Given the description of an element on the screen output the (x, y) to click on. 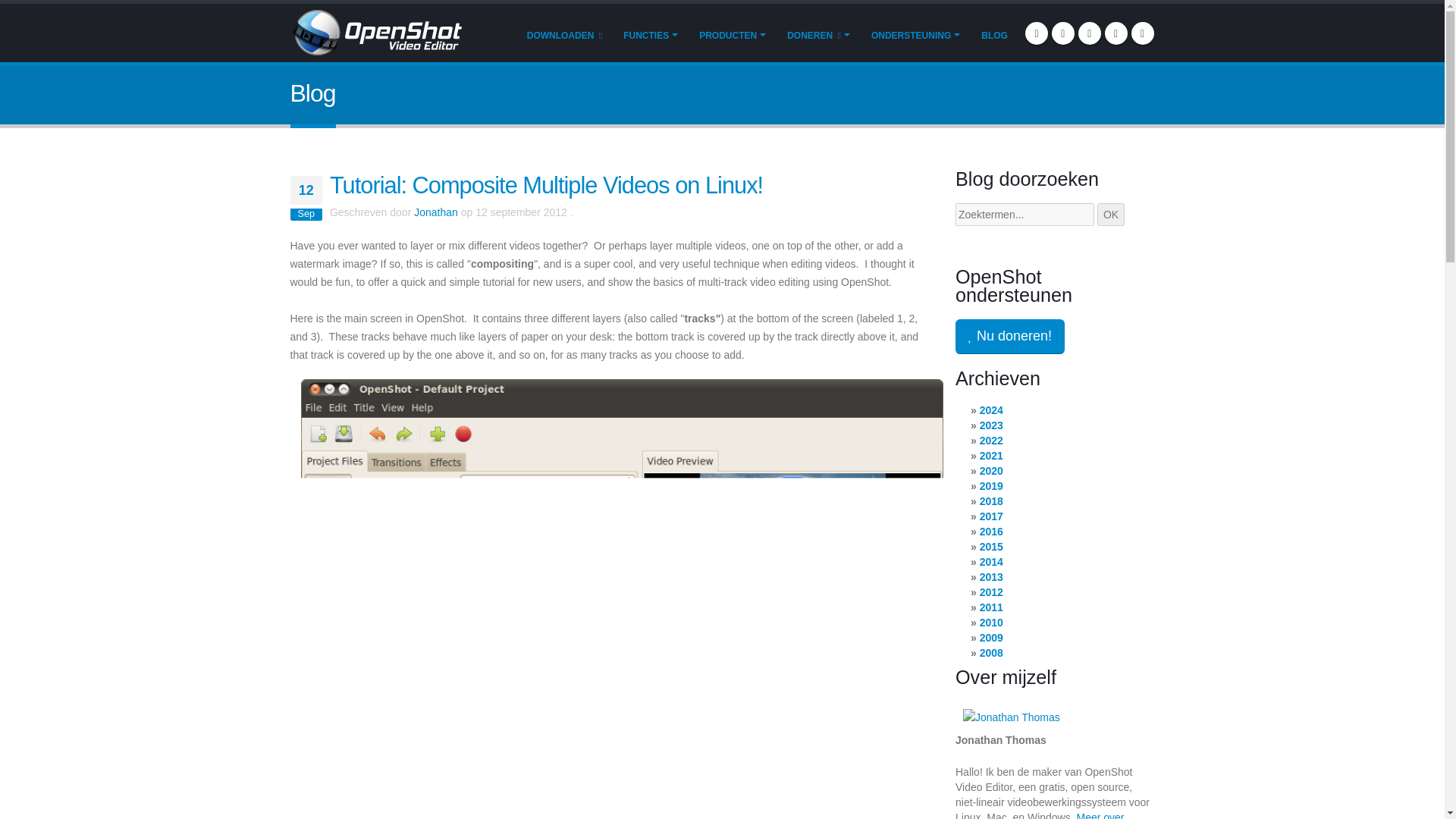
OK (1110, 214)
FUNCTIES (649, 34)
DOWNLOADEN (563, 34)
